Given the description of an element on the screen output the (x, y) to click on. 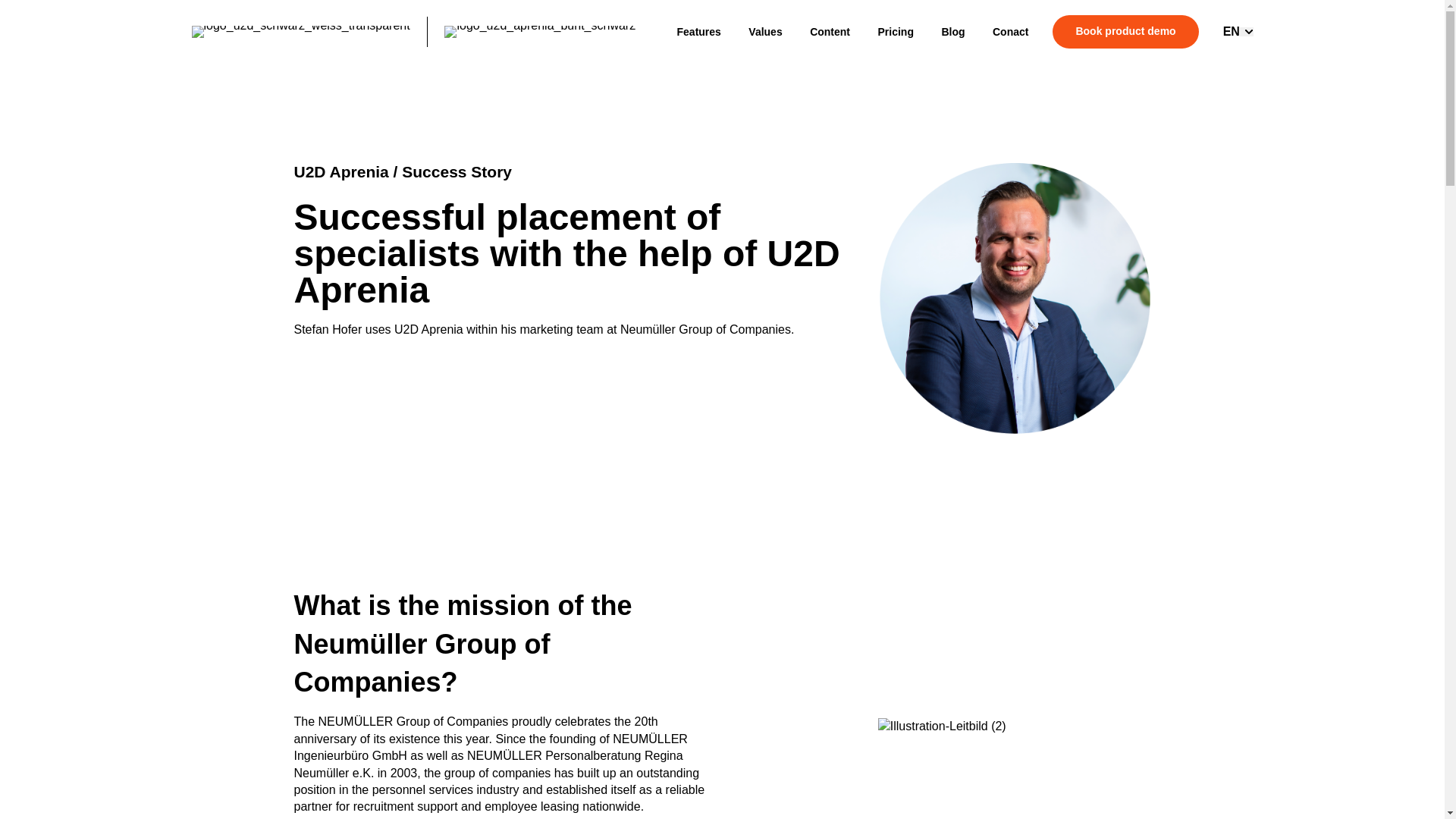
Book product demo (1125, 31)
Pricing (895, 32)
Show submenu for translations (1246, 31)
pb-sh-round (1014, 298)
Blog (951, 32)
Content (829, 32)
Conact (1009, 32)
Values (764, 32)
Features (698, 32)
